Given the description of an element on the screen output the (x, y) to click on. 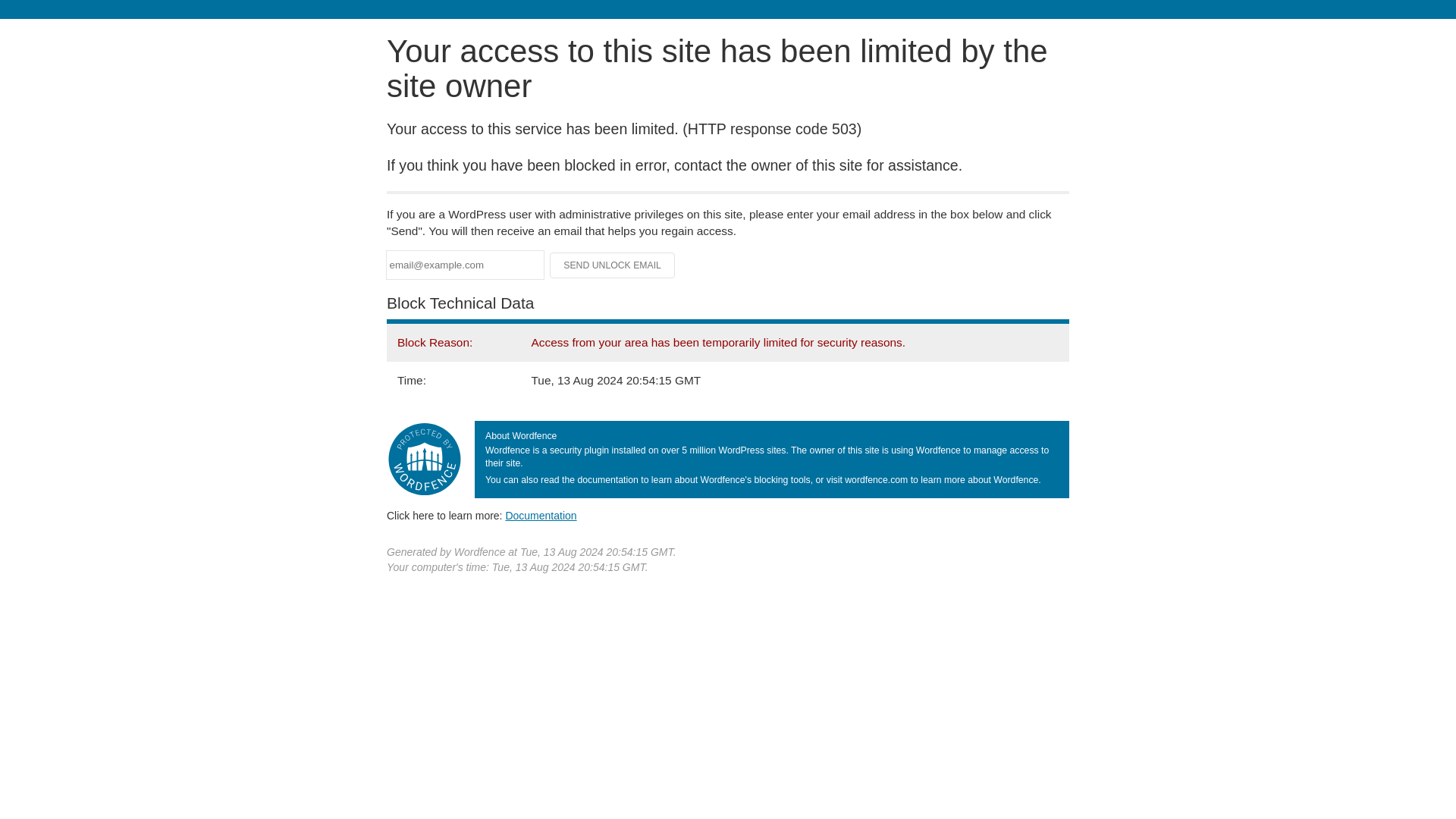
Send Unlock Email (612, 265)
Documentation (540, 515)
Send Unlock Email (612, 265)
